Given the description of an element on the screen output the (x, y) to click on. 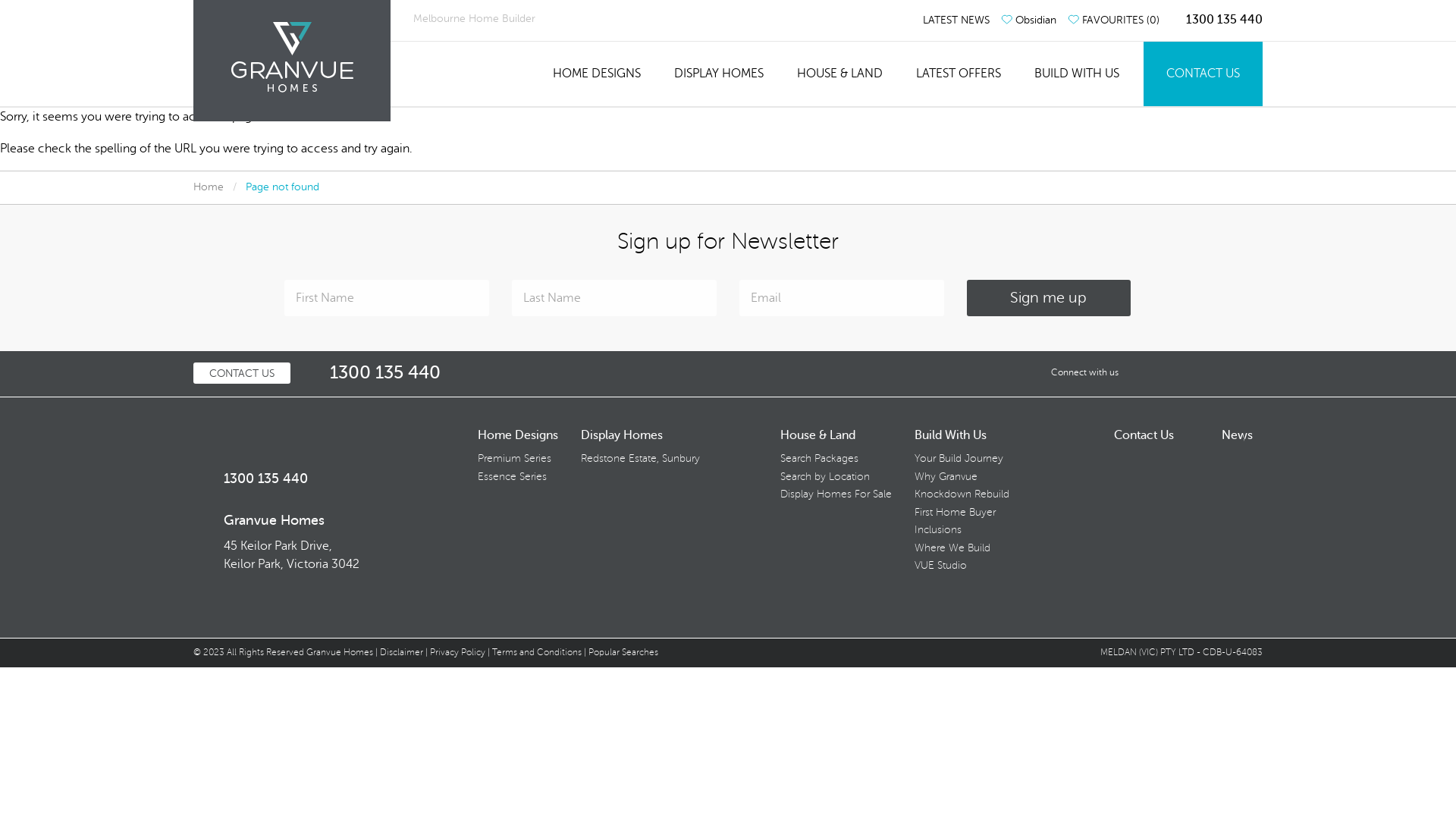
Home Element type: text (208, 186)
First Home Buyer Element type: text (954, 511)
Premium Series Element type: text (514, 458)
House & Land Element type: text (817, 435)
Knockdown Rebuild Element type: text (961, 493)
Search Packages Element type: text (819, 458)
Contact Us Element type: text (1143, 435)
CONTACT US Element type: text (241, 372)
LATEST NEWS Element type: text (950, 19)
BUILD WITH US Element type: text (1076, 73)
VUE Studio Element type: text (940, 565)
Build With Us Element type: text (950, 435)
Display Homes For Sale Element type: text (835, 493)
CONTACT US Element type: text (1202, 73)
1300 135 440 Element type: text (1216, 19)
Where We Build Element type: text (952, 547)
Inclusions Element type: text (937, 529)
Disclaimer Element type: text (401, 652)
Essence Series Element type: text (511, 476)
1300 135 440 Element type: text (250, 478)
Display Homes Element type: text (621, 435)
Terms and Conditions Element type: text (536, 652)
FAVOURITES (0) Element type: text (1113, 19)
Redstone Estate, Sunbury Element type: text (639, 458)
1300 135 440 Element type: text (372, 372)
Page not found Element type: text (282, 186)
Why Granvue Element type: text (945, 476)
News Element type: text (1236, 435)
Privacy Policy Element type: text (457, 652)
Your Build Journey Element type: text (958, 458)
Popular Searches Element type: text (623, 652)
Sign me up Element type: text (1048, 297)
Home Designs Element type: text (517, 435)
HOME DESIGNS Element type: text (596, 73)
Search by Location Element type: text (824, 476)
LATEST OFFERS Element type: text (958, 73)
DISPLAY HOMES Element type: text (718, 73)
HOUSE & LAND Element type: text (839, 73)
